Given the description of an element on the screen output the (x, y) to click on. 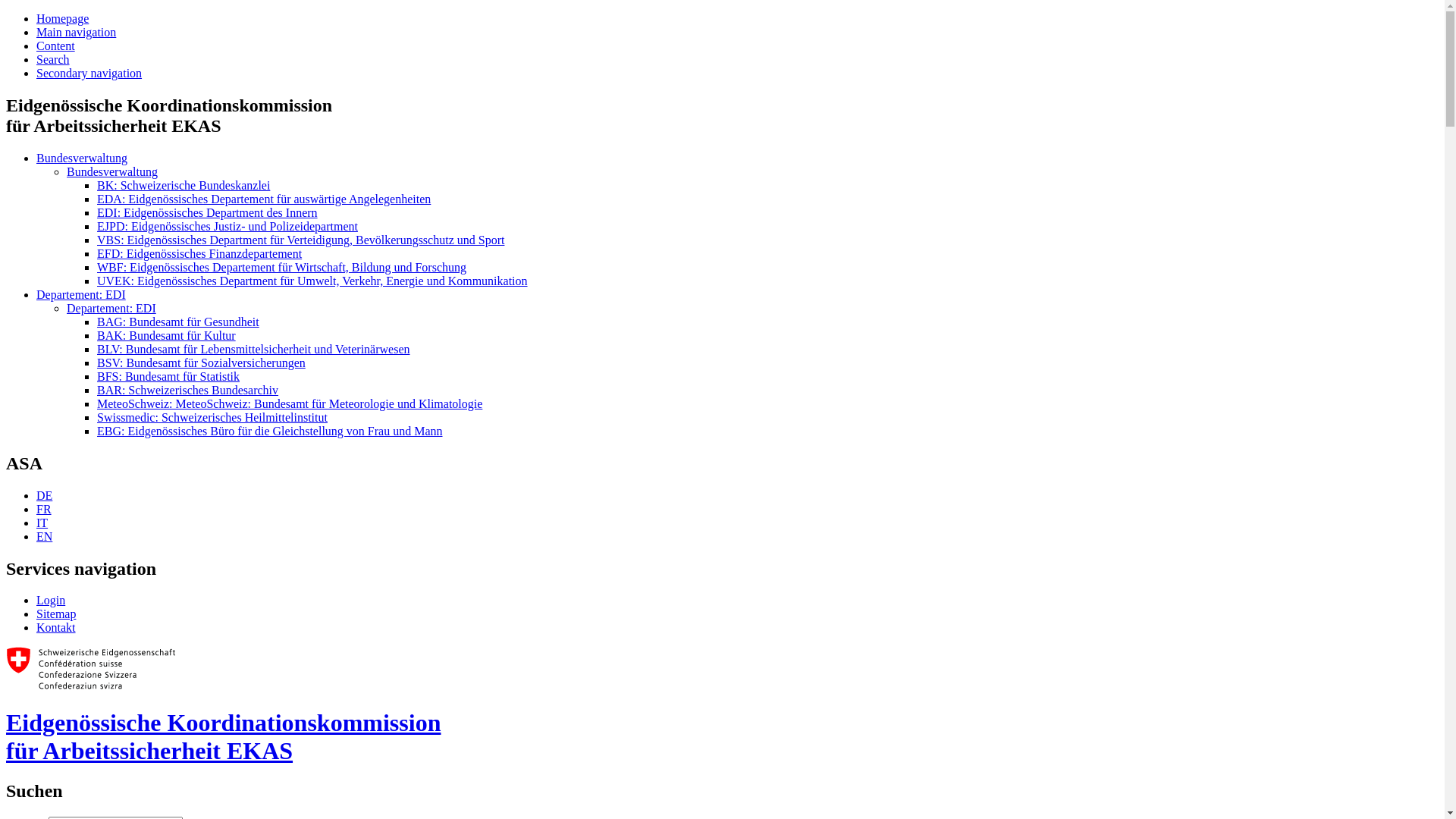
DE Element type: text (44, 495)
Kontakt Element type: text (55, 627)
Content Element type: text (55, 45)
Sitemap Element type: text (55, 613)
IT Element type: text (41, 522)
Departement: EDI Element type: text (111, 307)
Login Element type: text (50, 599)
FR Element type: text (43, 508)
Homepage Element type: text (62, 18)
BAR: Schweizerisches Bundesarchiv Element type: text (187, 389)
Main navigation Element type: text (76, 31)
Departement: EDI Element type: text (80, 294)
Bundesverwaltung Element type: text (81, 157)
Secondary navigation Element type: text (88, 72)
BK: Schweizerische Bundeskanzlei Element type: text (183, 184)
Swissmedic: Schweizerisches Heilmittelinstitut Element type: text (212, 417)
Search Element type: text (52, 59)
Bundesverwaltung Element type: text (111, 171)
EN Element type: text (44, 536)
